Given the description of an element on the screen output the (x, y) to click on. 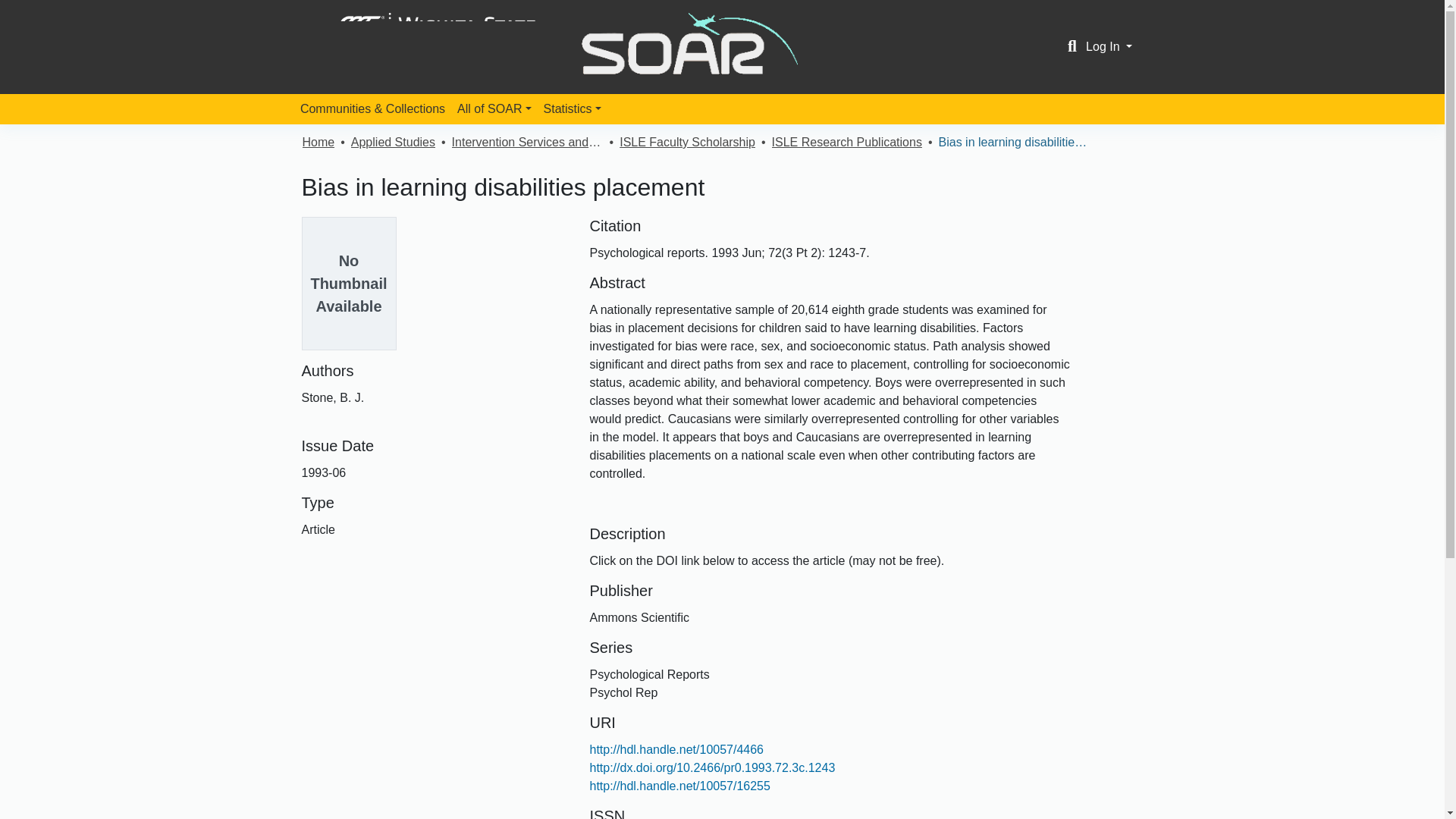
Home (317, 142)
Statistics (572, 109)
Log In (1108, 46)
Search (1072, 46)
ISLE Faculty Scholarship (687, 142)
Applied Studies (392, 142)
ISLE Research Publications (846, 142)
All of SOAR (494, 109)
